Given the description of an element on the screen output the (x, y) to click on. 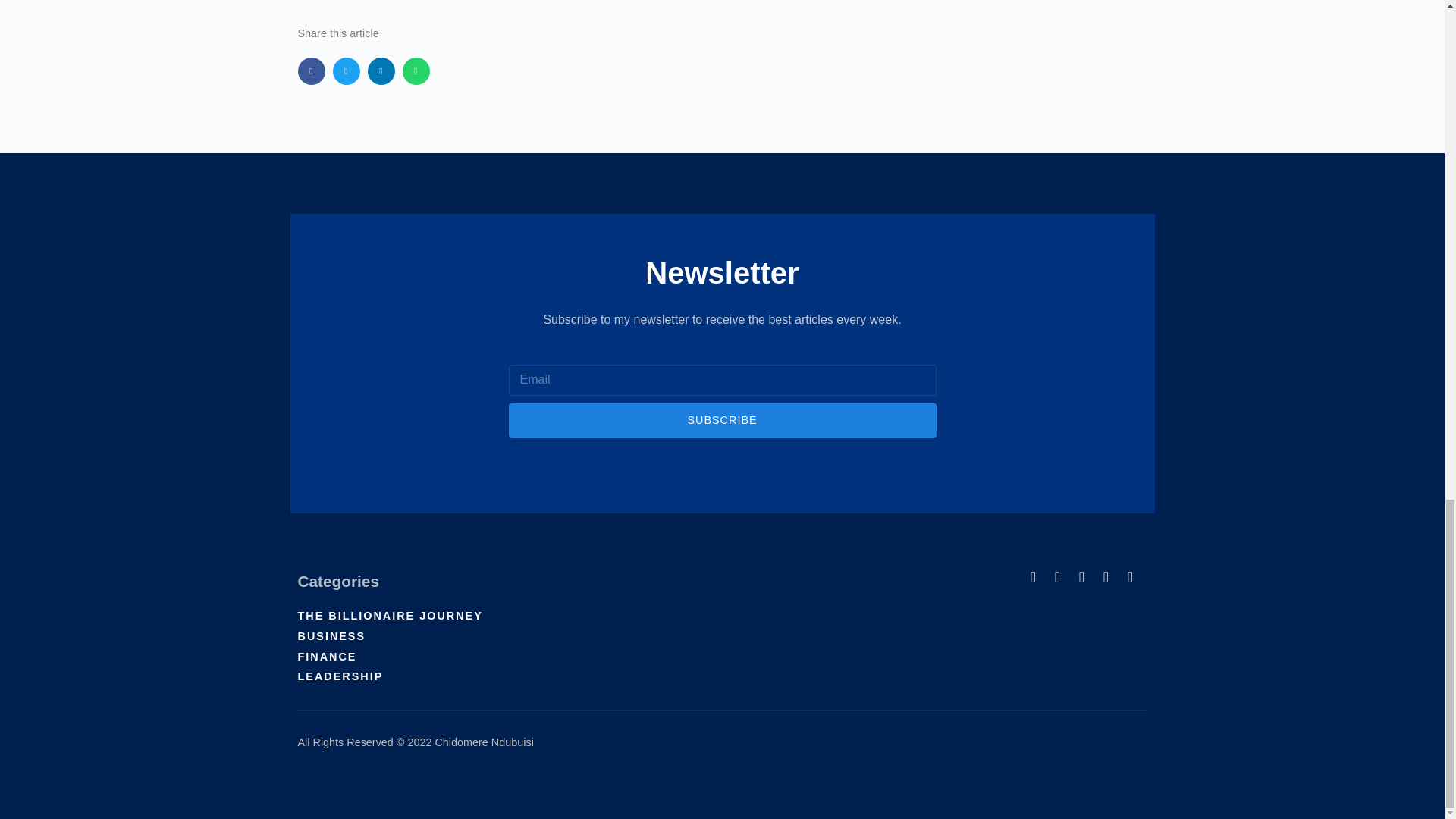
THE BILLIONAIRE JOURNEY (509, 616)
FINANCE (509, 657)
SUBSCRIBE (722, 420)
BUSINESS (509, 636)
LEADERSHIP (509, 677)
